Given the description of an element on the screen output the (x, y) to click on. 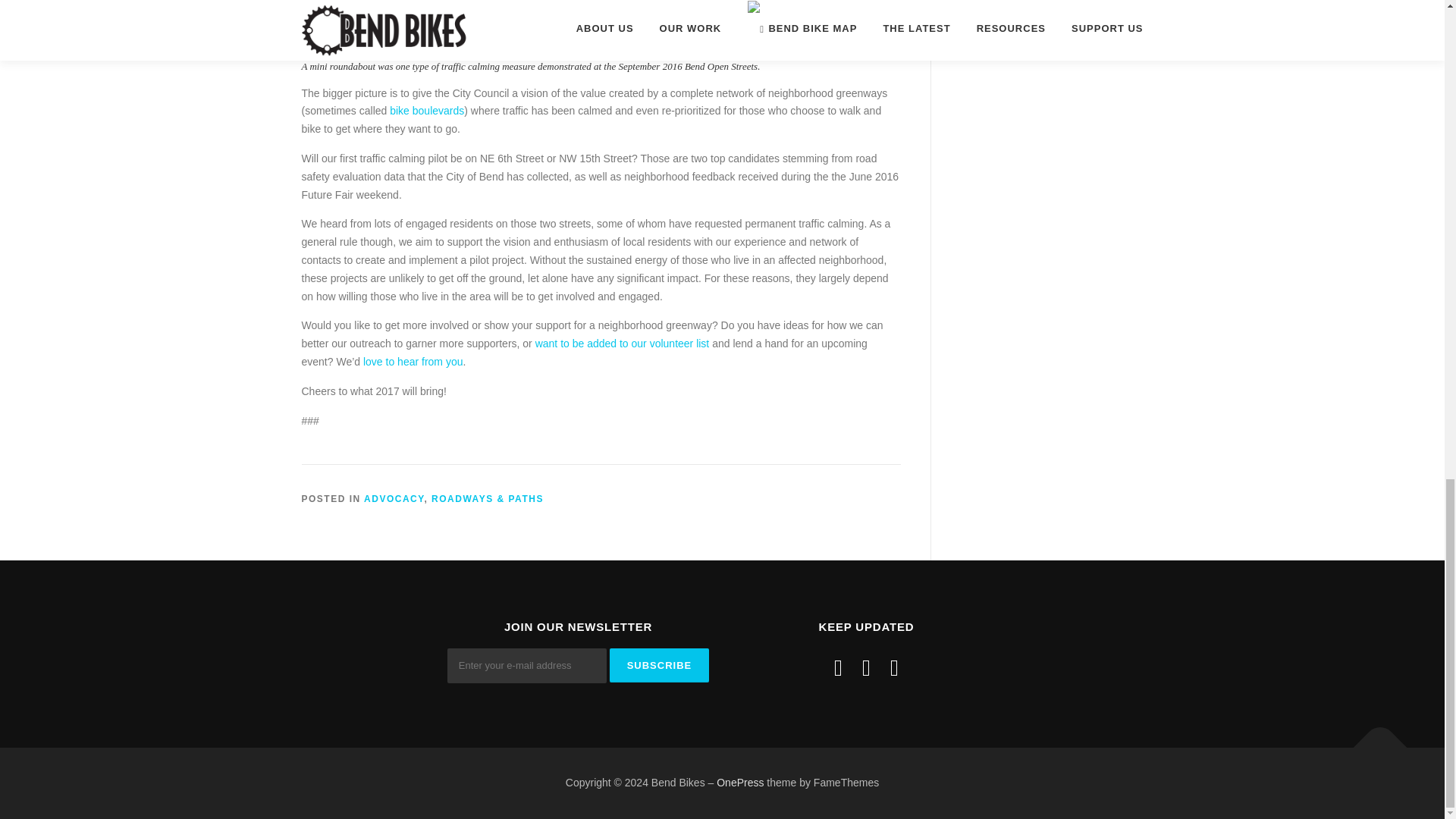
Subscribe (660, 665)
love to hear from you (412, 361)
Back To Top (1372, 740)
want to be added to our volunteer list (622, 343)
ADVOCACY (393, 498)
bike boulevards (427, 110)
